Given the description of an element on the screen output the (x, y) to click on. 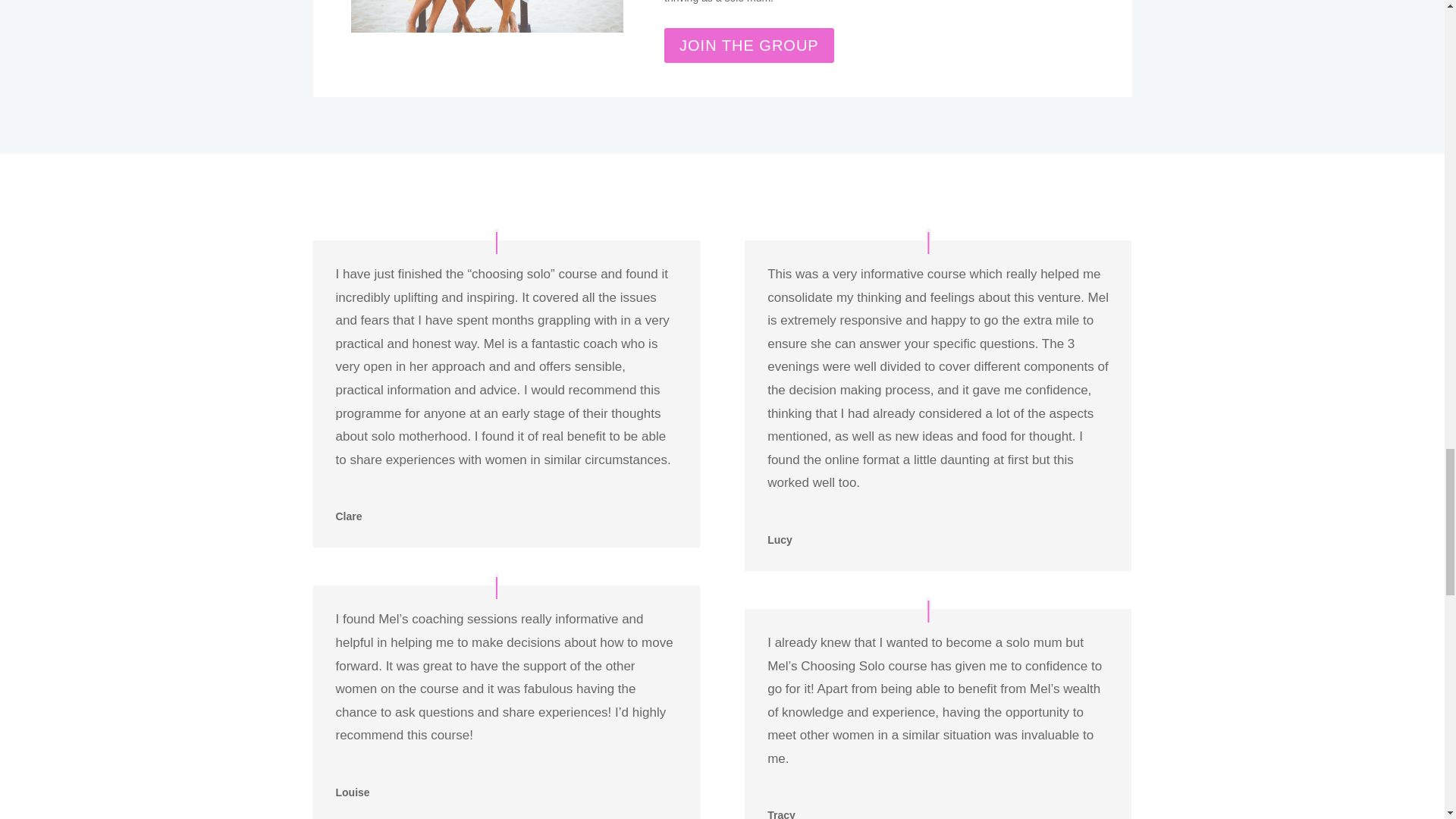
ben-white-s1ihVBg5tbI-unsplash (486, 16)
